Given the description of an element on the screen output the (x, y) to click on. 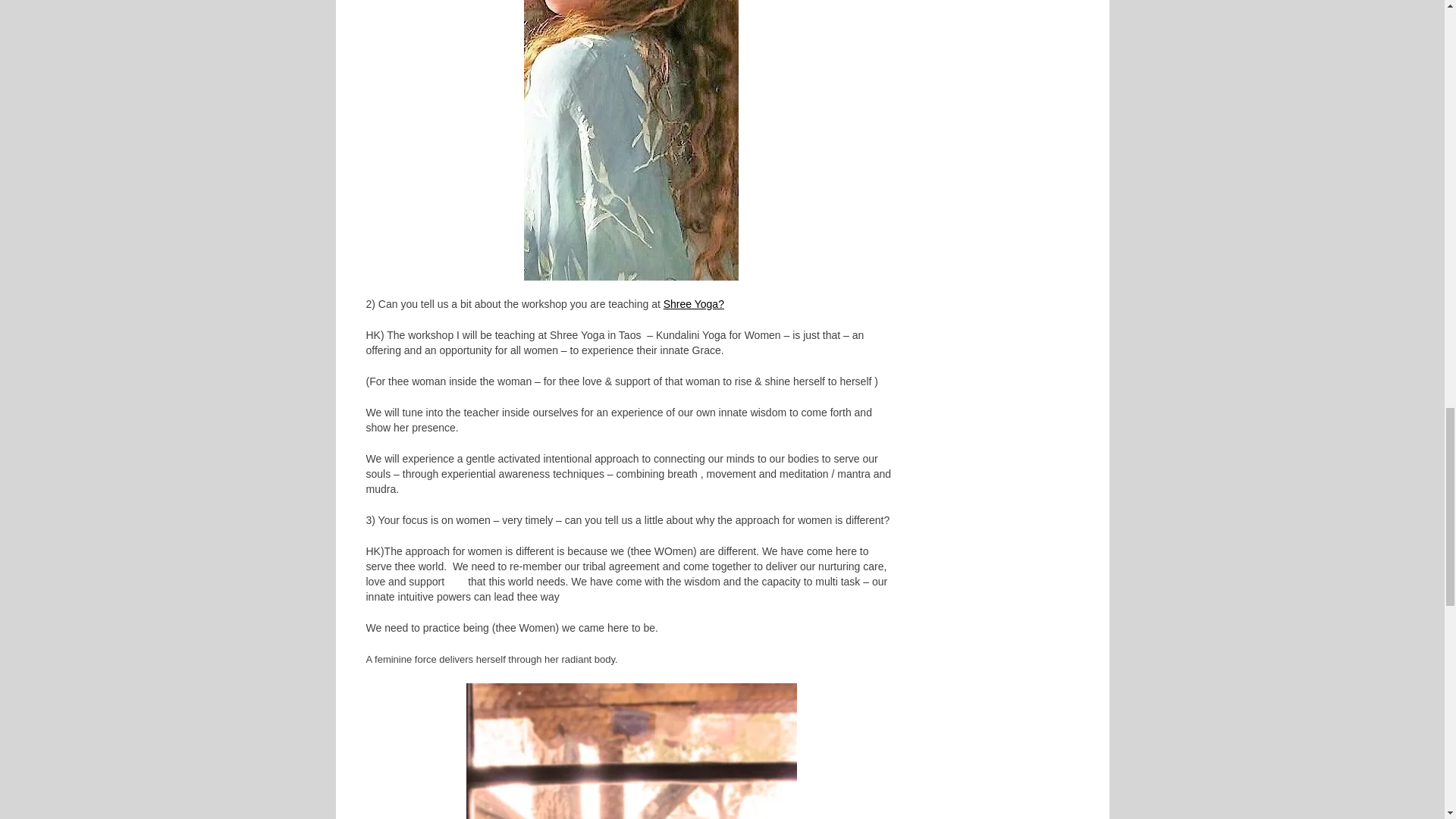
Shree Yoga? (693, 303)
